Given the description of an element on the screen output the (x, y) to click on. 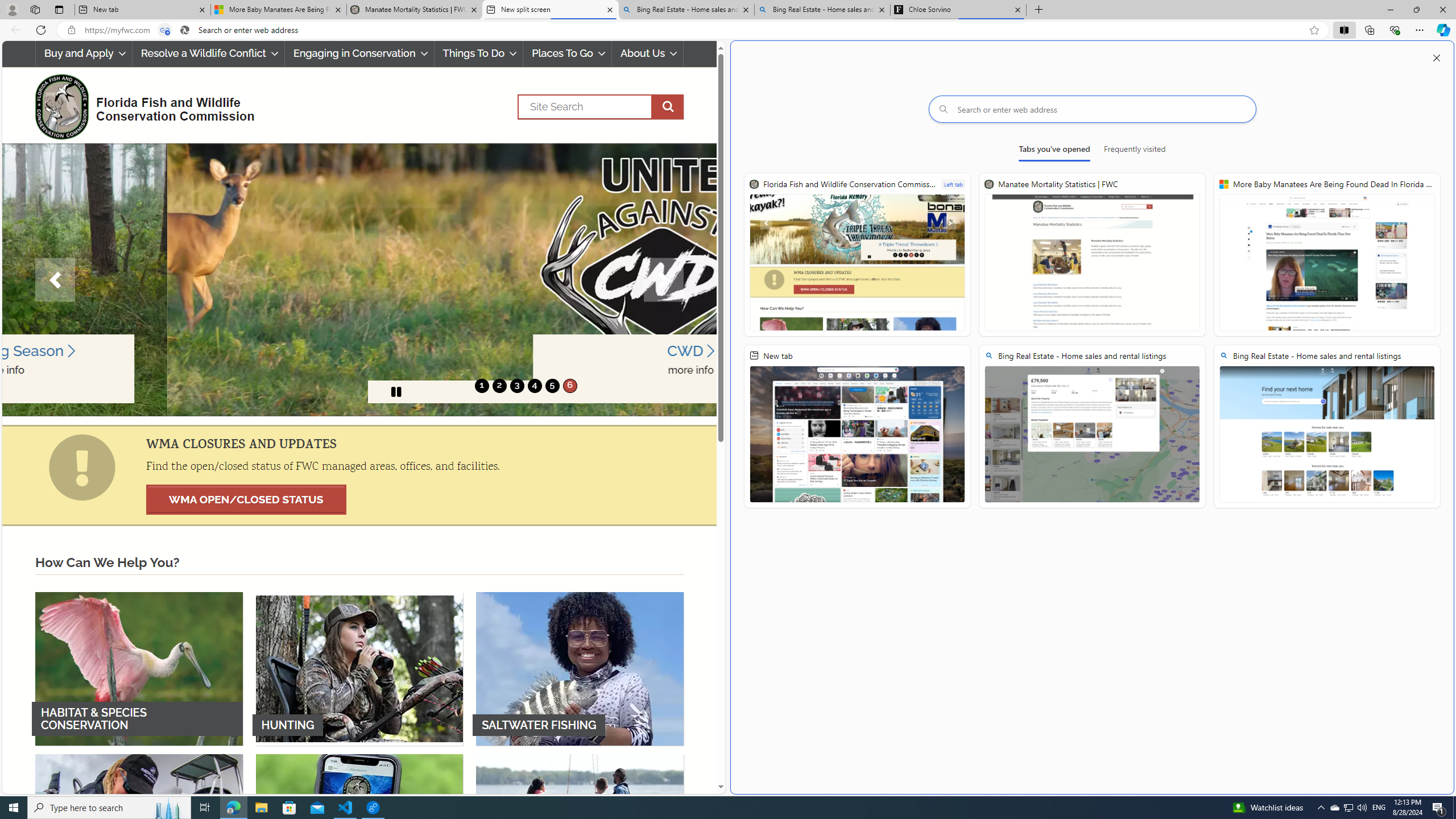
2 (499, 385)
Resolve a Wildlife Conflict (208, 53)
Previous (54, 279)
Buy and Apply (83, 53)
Engaging in Conservation (358, 53)
Resolve a Wildlife Conflict (207, 53)
Places To Go (566, 53)
slider pause button (396, 391)
Buy and Apply (84, 53)
Tabs in split screen (164, 29)
Things To Do (478, 53)
